Given the description of an element on the screen output the (x, y) to click on. 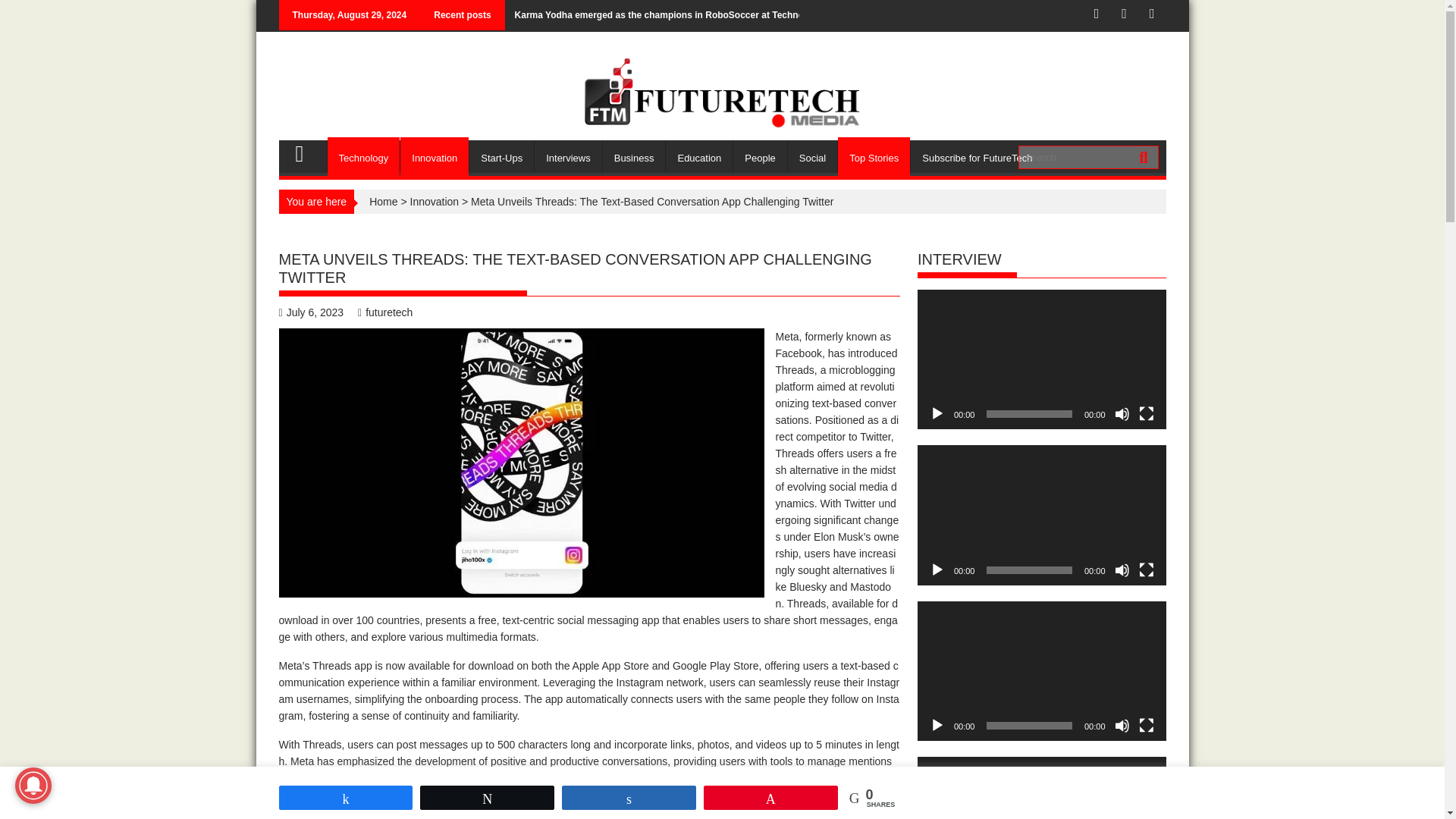
Technology (363, 158)
Start-Ups (501, 158)
Top Stories (874, 158)
Business (633, 158)
Social (812, 158)
People (759, 158)
Subscribe for FutureTech (977, 158)
Education (698, 158)
Innovation (434, 158)
